Given the description of an element on the screen output the (x, y) to click on. 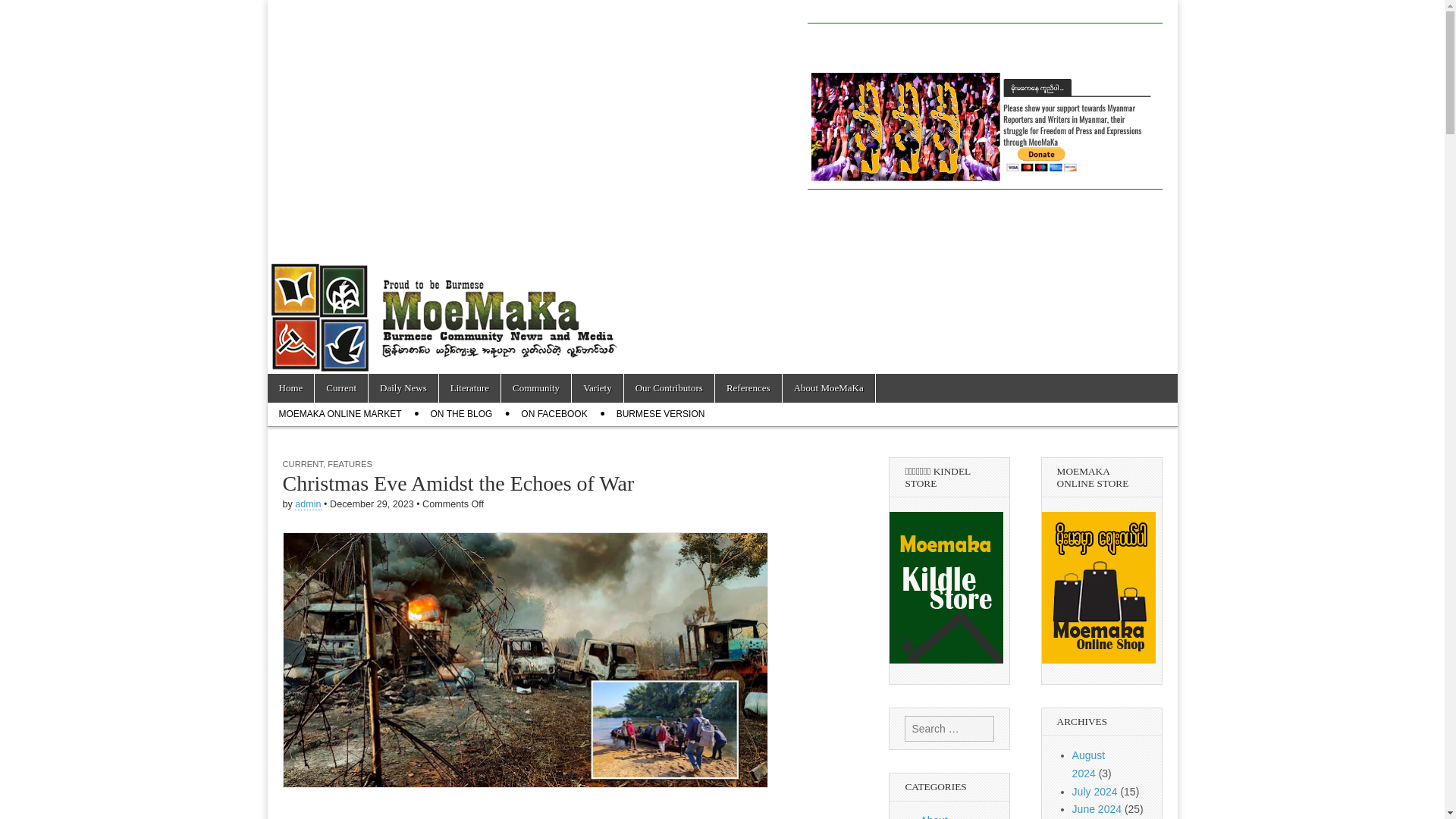
ON FACEBOOK (553, 413)
MoeMaKa in English (360, 58)
FEATURES (349, 463)
MoeMaKa in English (360, 58)
Posts by admin (307, 504)
Our Contributors (669, 387)
Daily News (403, 387)
admin (307, 504)
Home (290, 387)
About MoeMaKa (944, 816)
Search (23, 12)
Literature (469, 387)
References (747, 387)
BURMESE VERSION (660, 413)
